Given the description of an element on the screen output the (x, y) to click on. 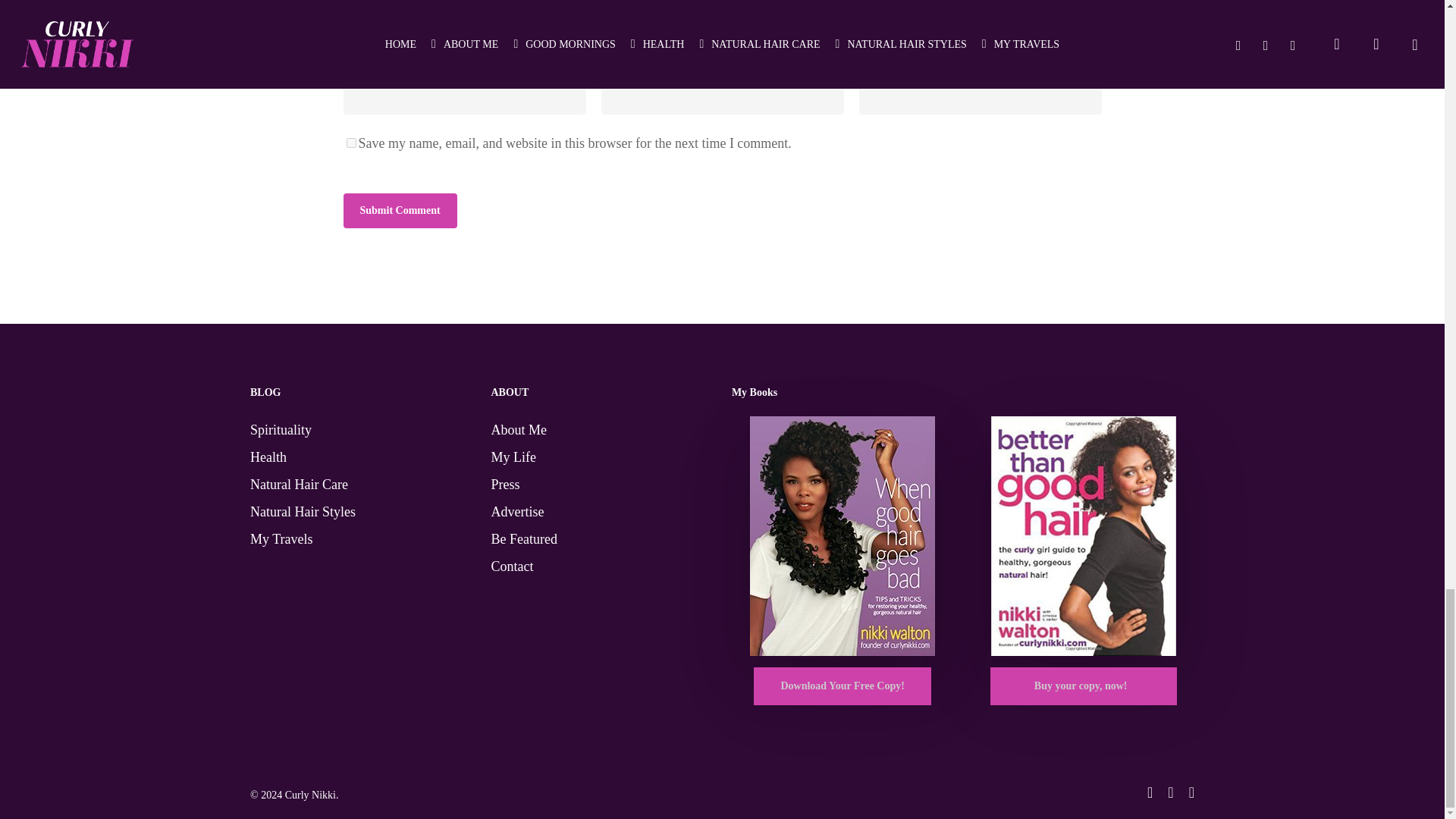
yes (350, 143)
Submit Comment (399, 210)
